Given the description of an element on the screen output the (x, y) to click on. 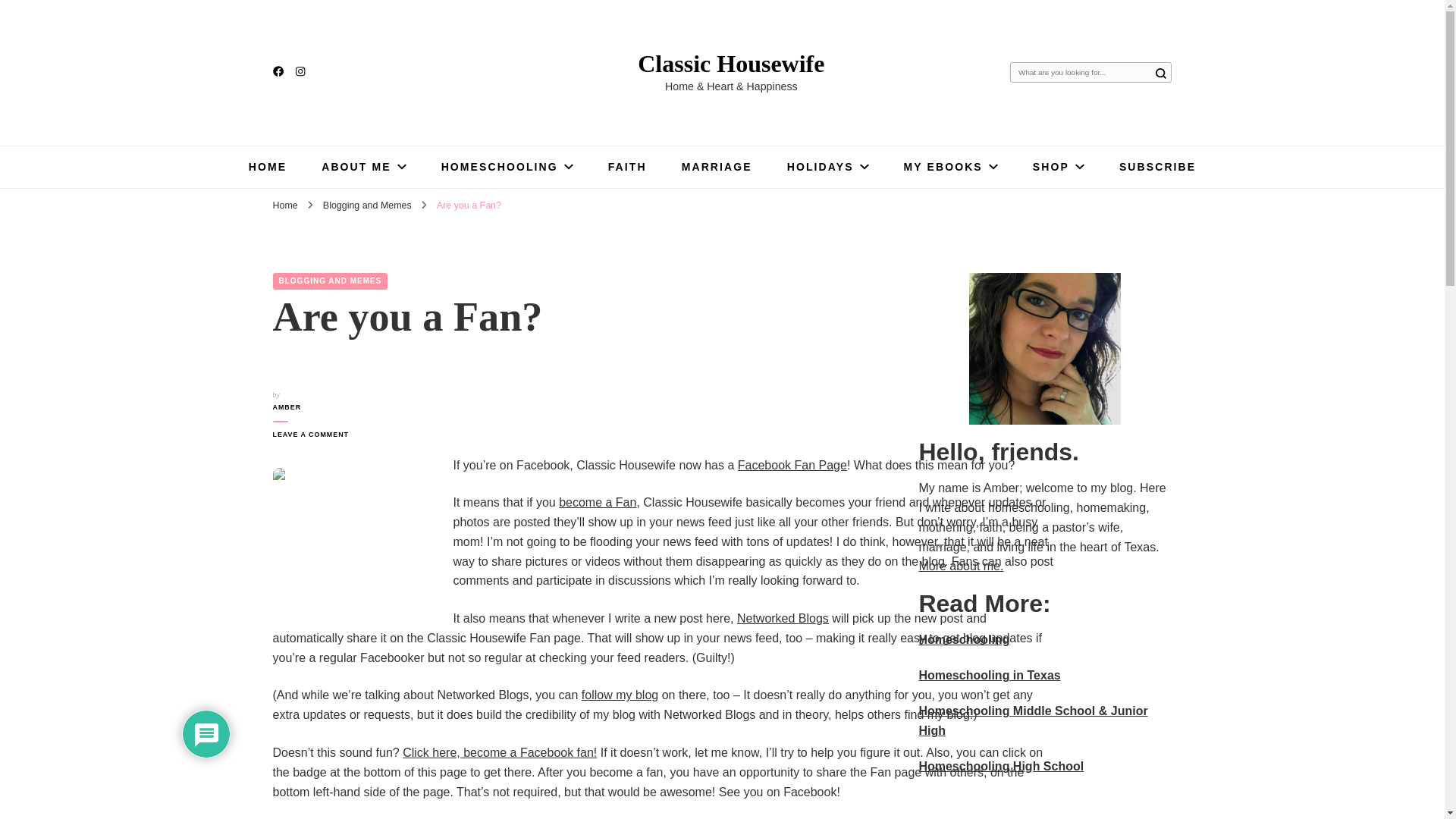
Search (1161, 72)
blogphoto (354, 527)
Search (1161, 72)
